Given the description of an element on the screen output the (x, y) to click on. 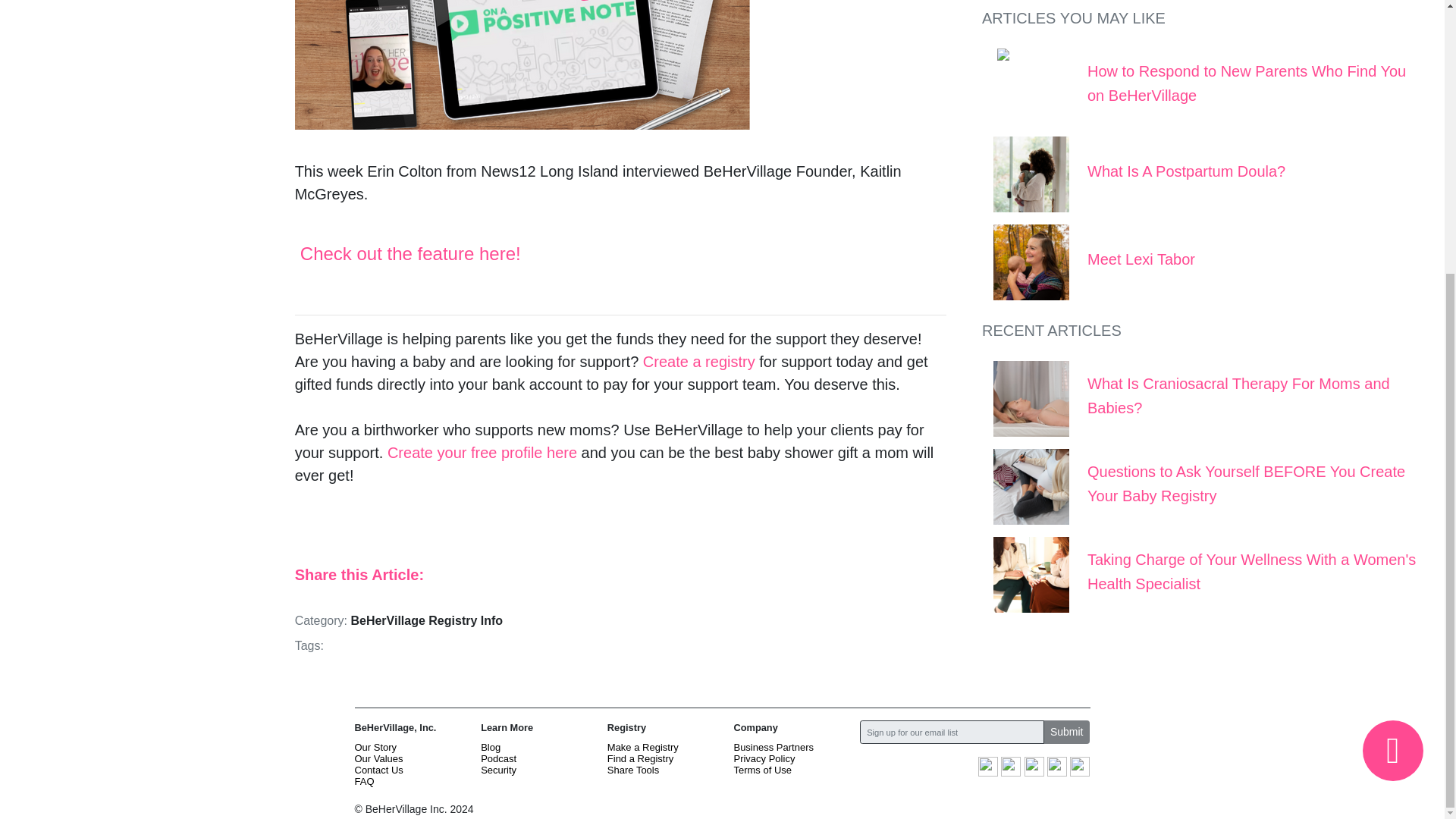
Check out the feature here!  (412, 253)
FAQ (364, 781)
Create your free profile here (481, 452)
Submit (1066, 731)
Our Values (379, 758)
Podcast (498, 758)
Our Story (376, 747)
Contact Us (379, 769)
Create a registry (699, 361)
Blog (490, 747)
What Is Craniosacral Therapy For Moms and Babies? (1238, 60)
